Given the description of an element on the screen output the (x, y) to click on. 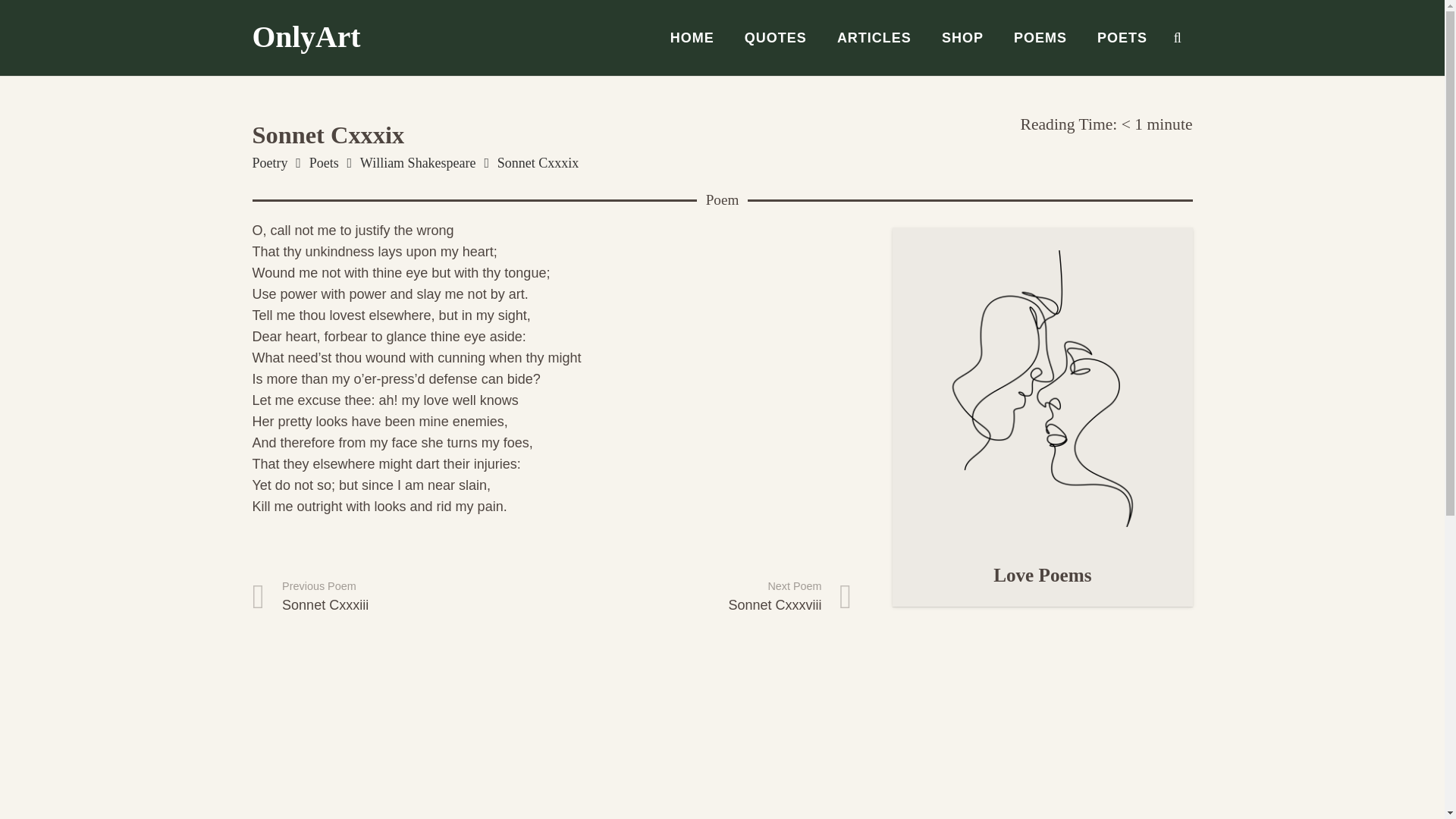
William Shakespeare (417, 162)
OnlyArt (305, 37)
HOME (692, 38)
ARTICLES (401, 596)
QUOTES (874, 38)
Poets (775, 38)
SHOP (323, 162)
Love Poems (962, 38)
Sonnet Cxxxiii (1041, 575)
